Given the description of an element on the screen output the (x, y) to click on. 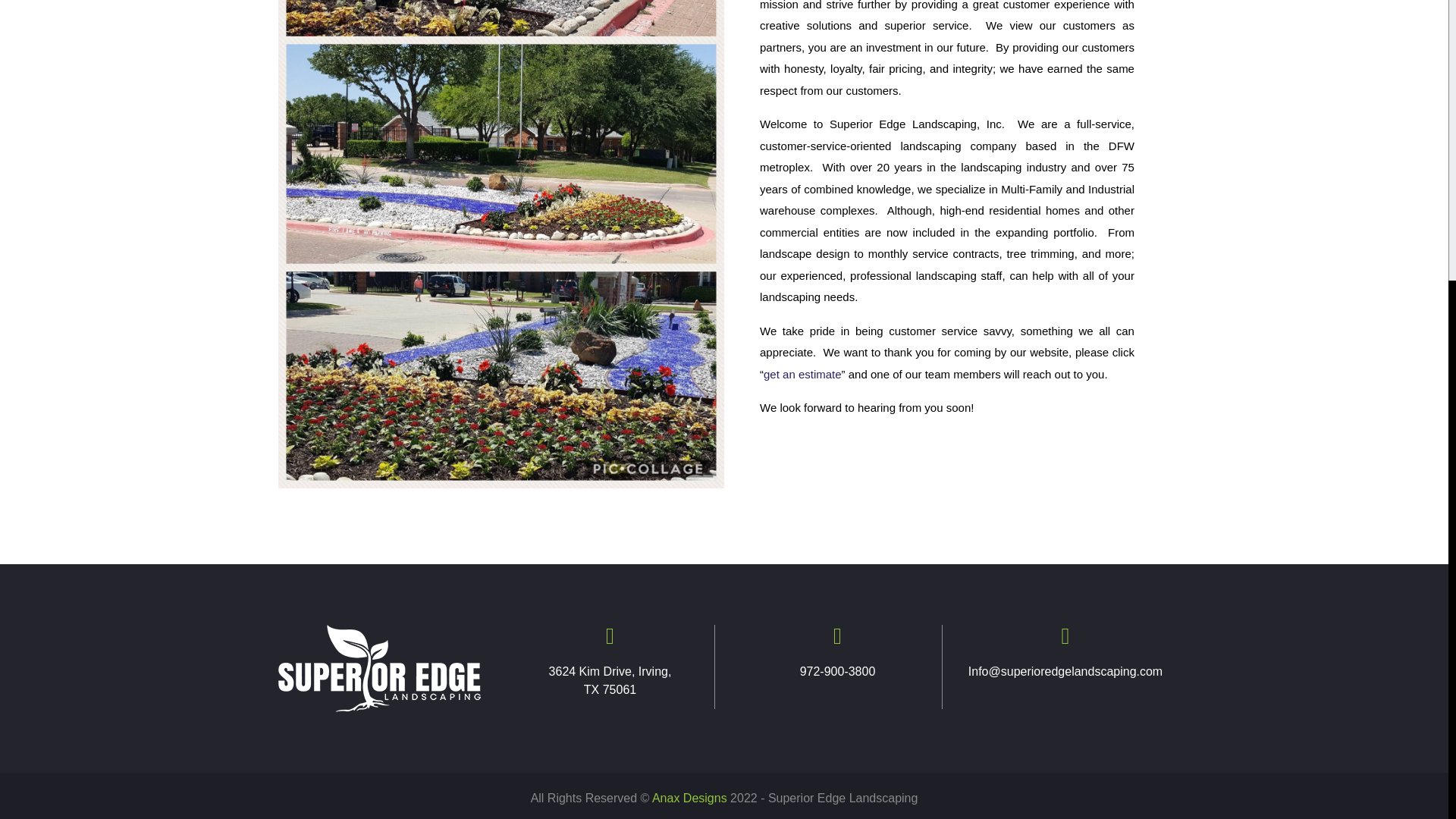
get an estimate (801, 373)
972-900-3800 (837, 671)
Anax Designs (689, 797)
